Given the description of an element on the screen output the (x, y) to click on. 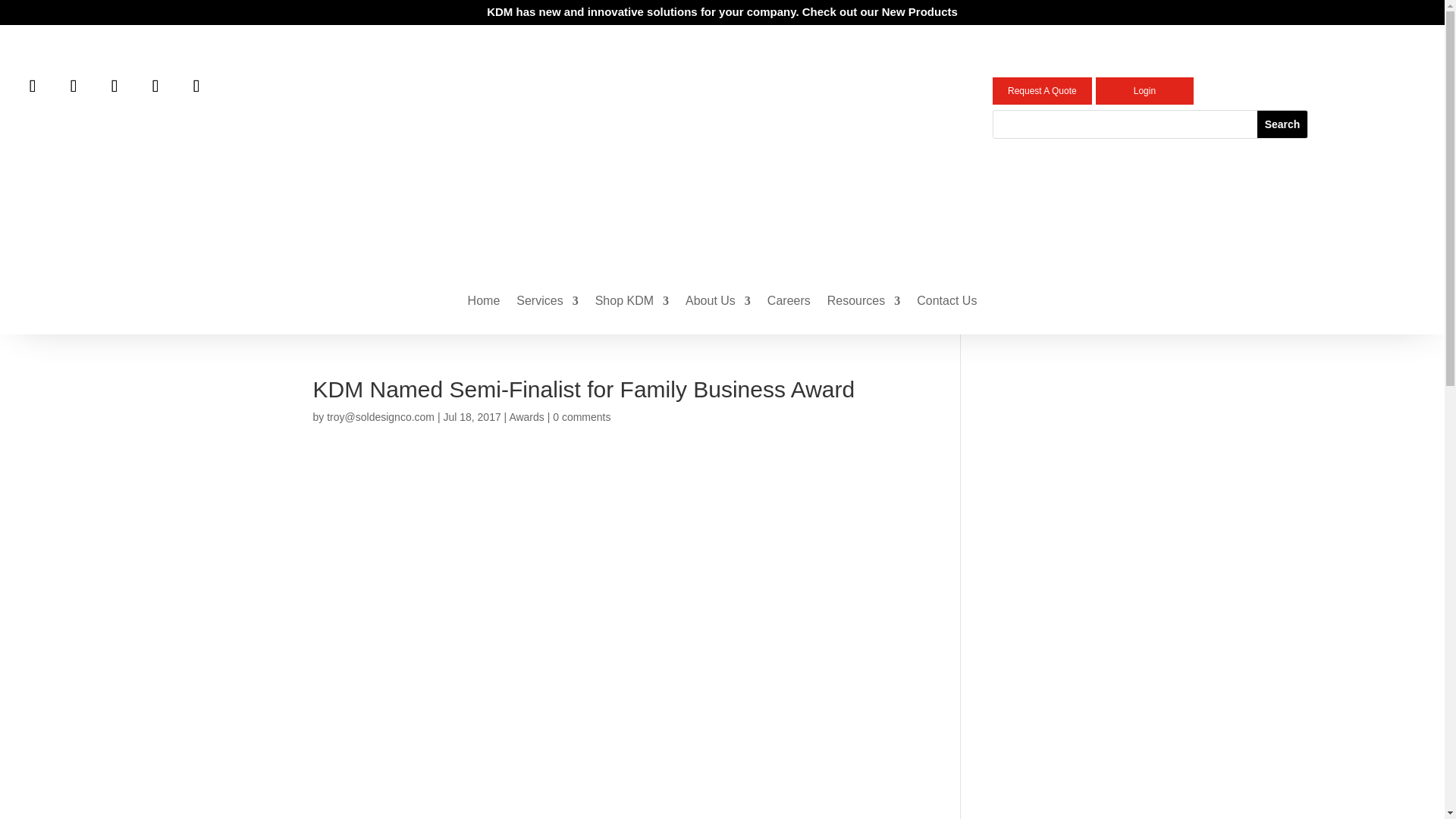
Follow on Instagram (114, 86)
Request A Quote (1042, 90)
Search (1282, 124)
kdm logo black (721, 156)
Follow on Twitter (155, 86)
Home (483, 303)
Follow on Facebook (73, 86)
Follow on Pinterest (232, 86)
Follow on LinkedIn (31, 86)
Search (1282, 124)
Services (547, 303)
Login (1144, 90)
Follow on Youtube (196, 86)
Search (1282, 124)
